Given the description of an element on the screen output the (x, y) to click on. 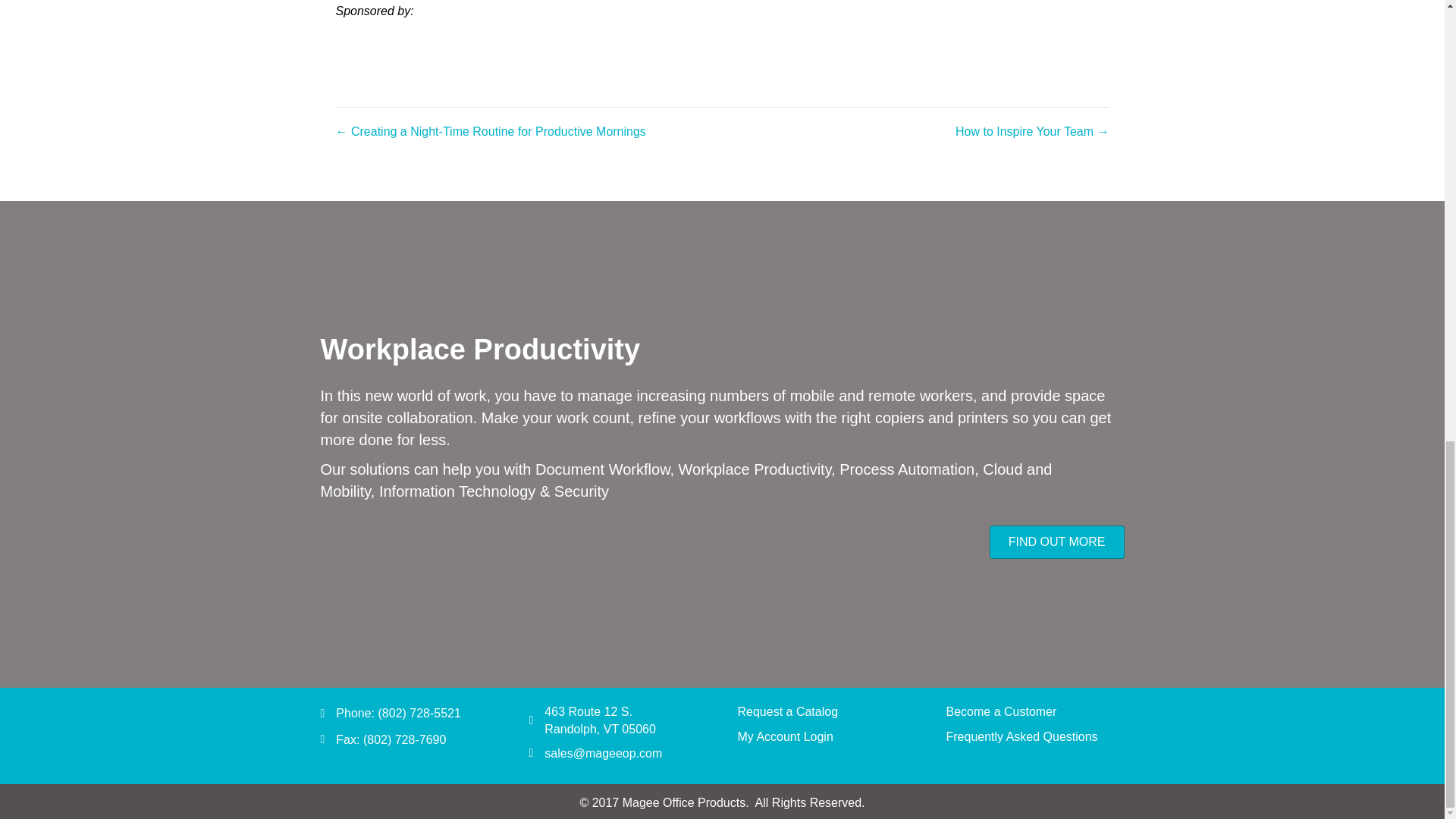
What is Occupational Wellness? 1 (530, 34)
What is Occupational Wellness? 2 (764, 34)
